Given the description of an element on the screen output the (x, y) to click on. 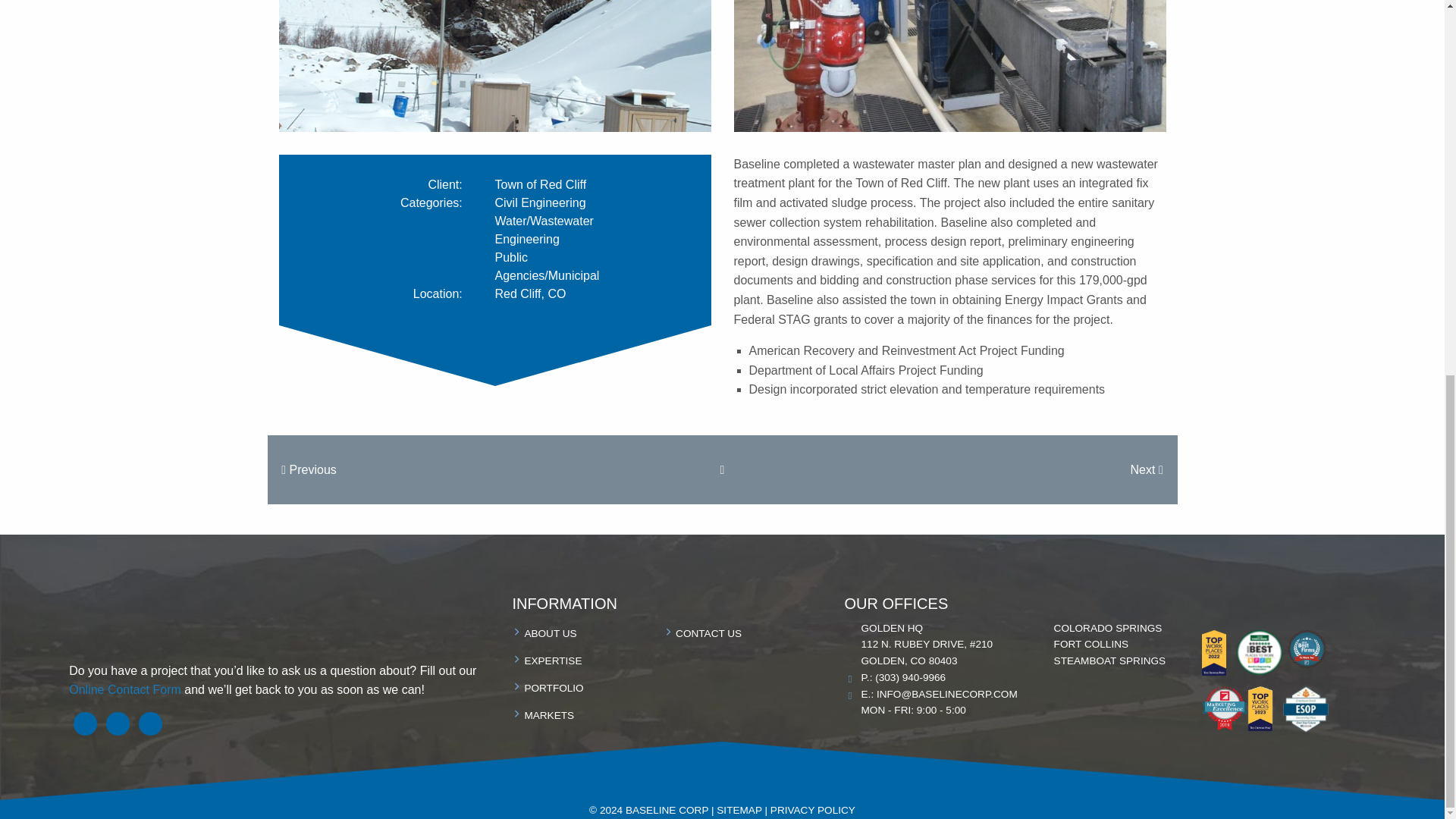
Mill Creek Park Microfiltration Treatment Plant Design (308, 469)
Louisville WTP Capital Improvements Design-Build (1147, 469)
